Given the description of an element on the screen output the (x, y) to click on. 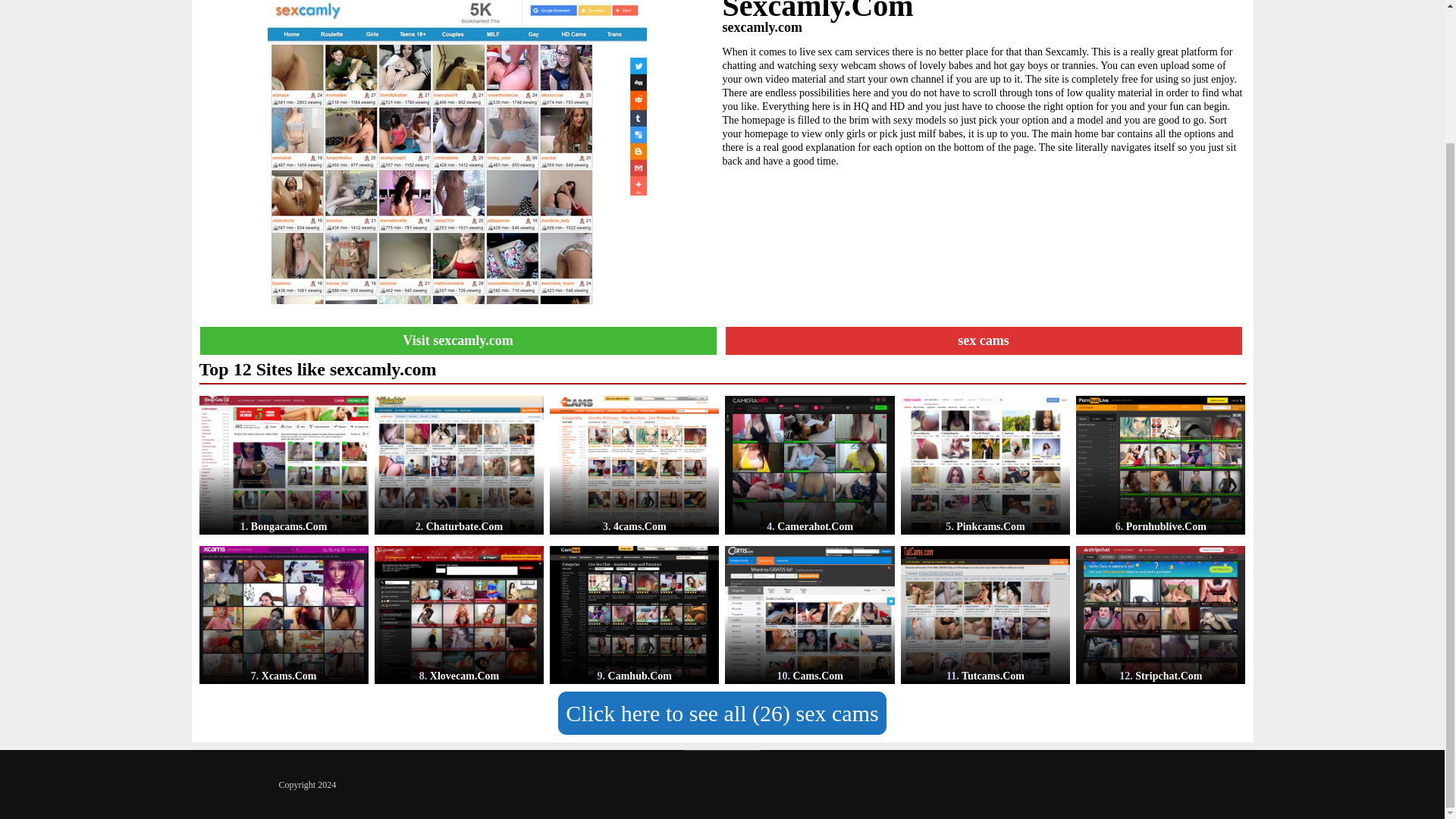
Pornhublive.Com (1159, 464)
Screenshot from sexcamly.com for review purposes (456, 151)
sex cams (984, 340)
Xcams.Com (283, 615)
4cams.Com (634, 464)
sexcamly (457, 340)
Bongacams.Com (283, 464)
Xlovecam.Com (458, 615)
Visit sexcamly.com (457, 340)
sexcamly (456, 146)
